Given the description of an element on the screen output the (x, y) to click on. 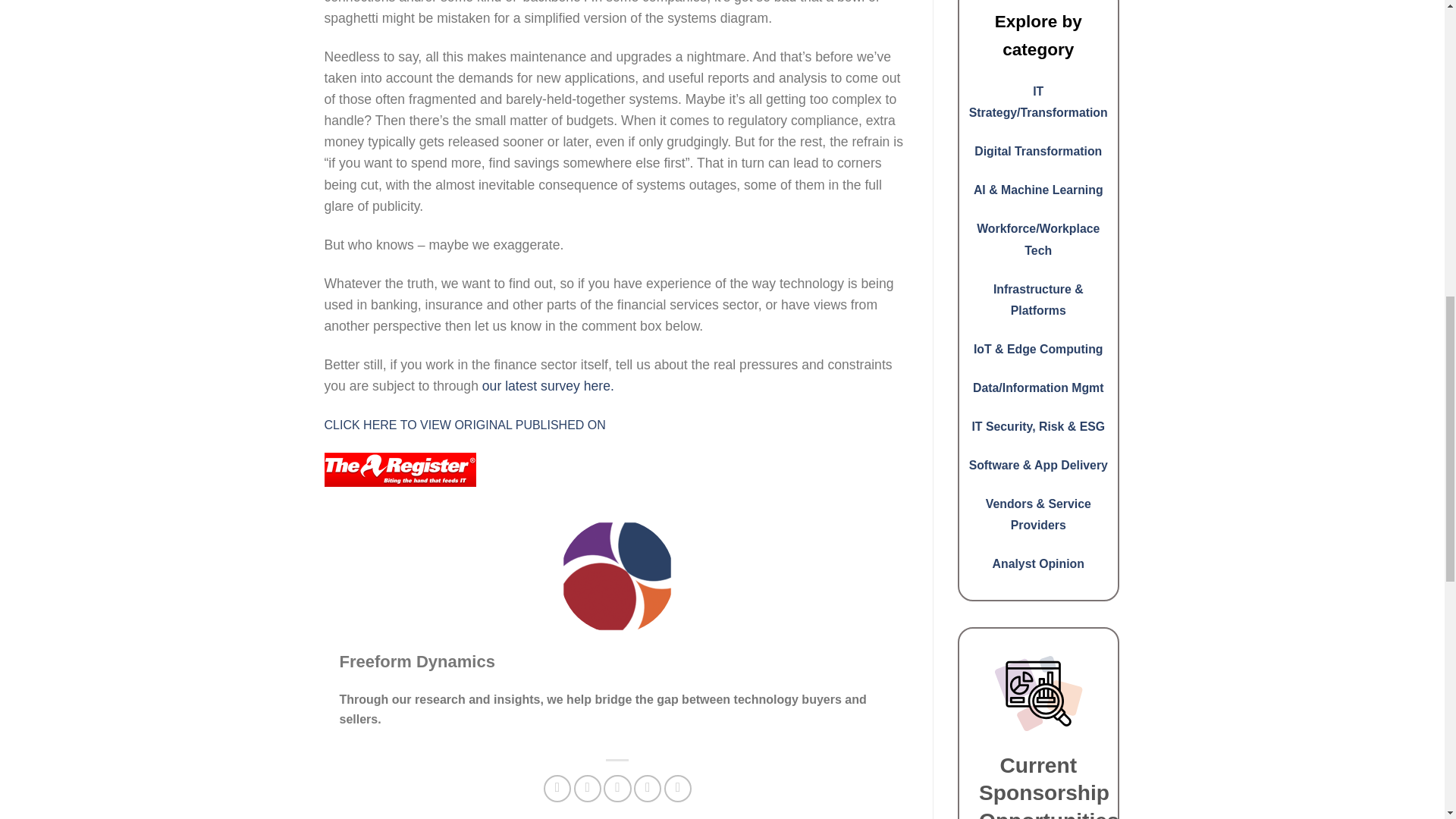
Freeform Dynamics (417, 660)
Share on Facebook (556, 788)
CLICK HERE TO VIEW ORIGINAL PUBLISHED ON (464, 424)
Share on LinkedIn (677, 788)
our latest survey here. (547, 385)
Pin on Pinterest (647, 788)
Share on Twitter (587, 788)
Email to a Friend (617, 788)
